Given the description of an element on the screen output the (x, y) to click on. 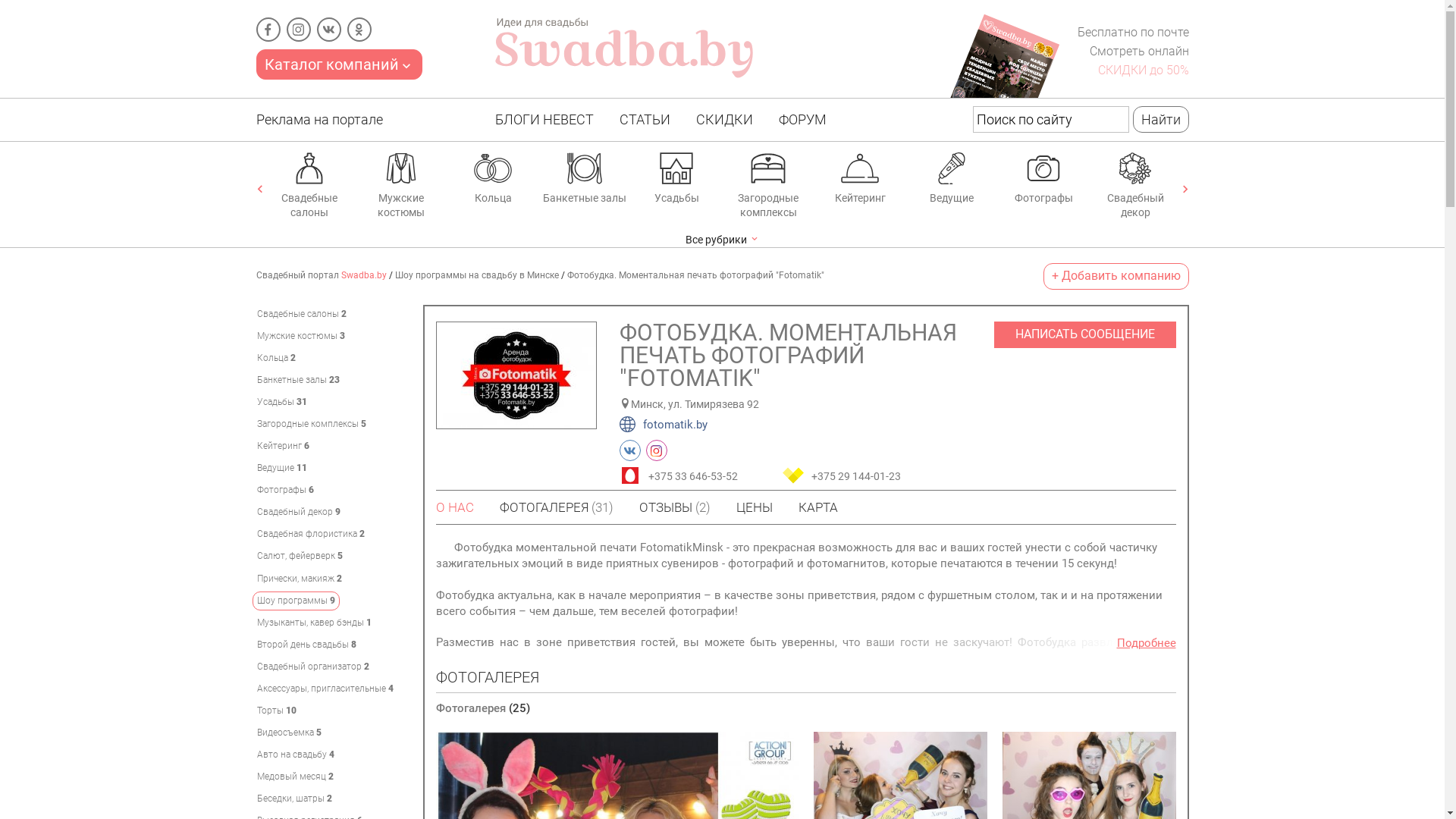
+375 29 144-01-23 Element type: text (858, 475)
+375 33 646-53-52 Element type: text (694, 475)
fotomatik.by Element type: text (662, 424)
